Given the description of an element on the screen output the (x, y) to click on. 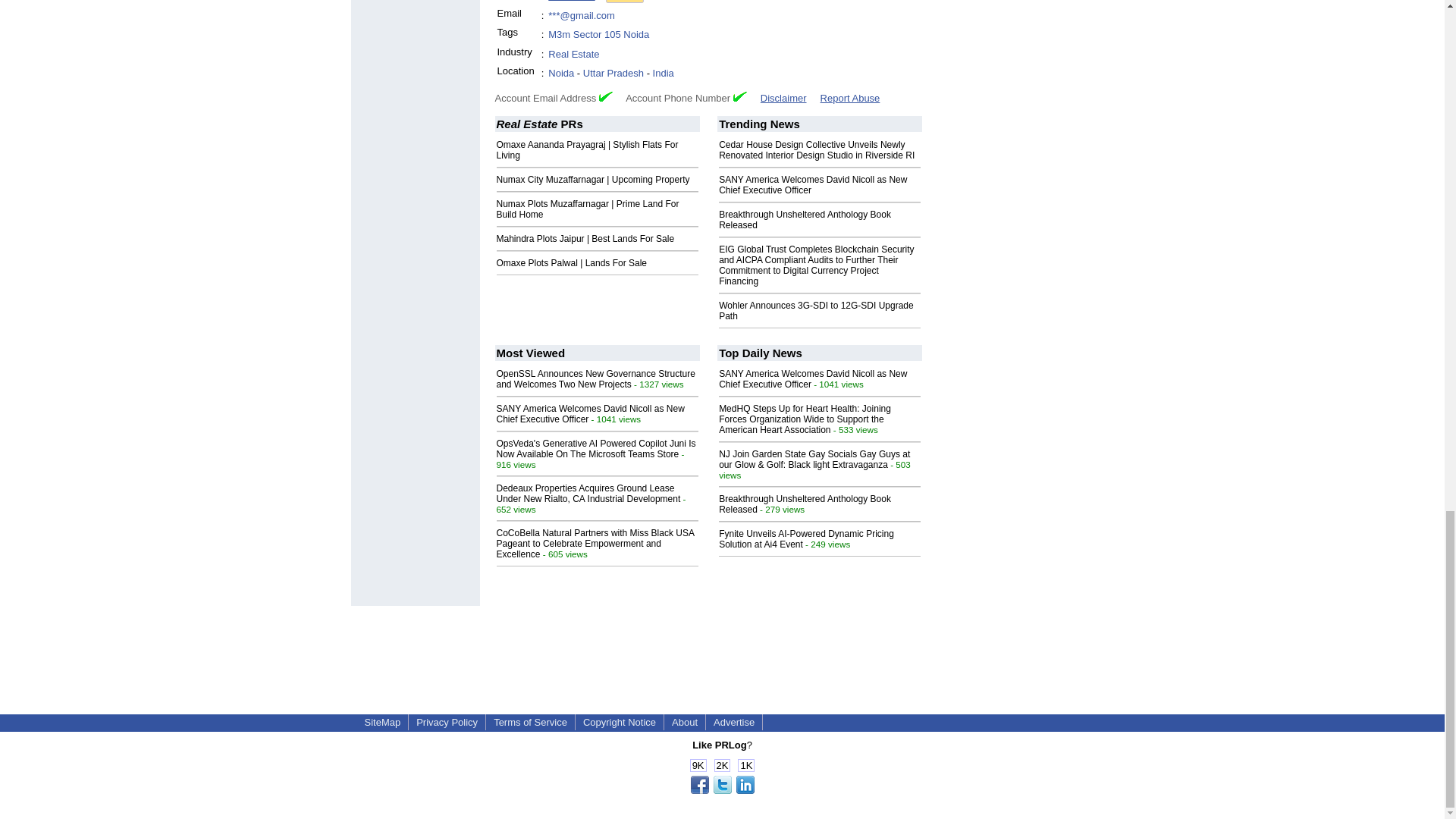
Verified (739, 96)
Share this page! (722, 790)
Verified (605, 96)
